Given the description of an element on the screen output the (x, y) to click on. 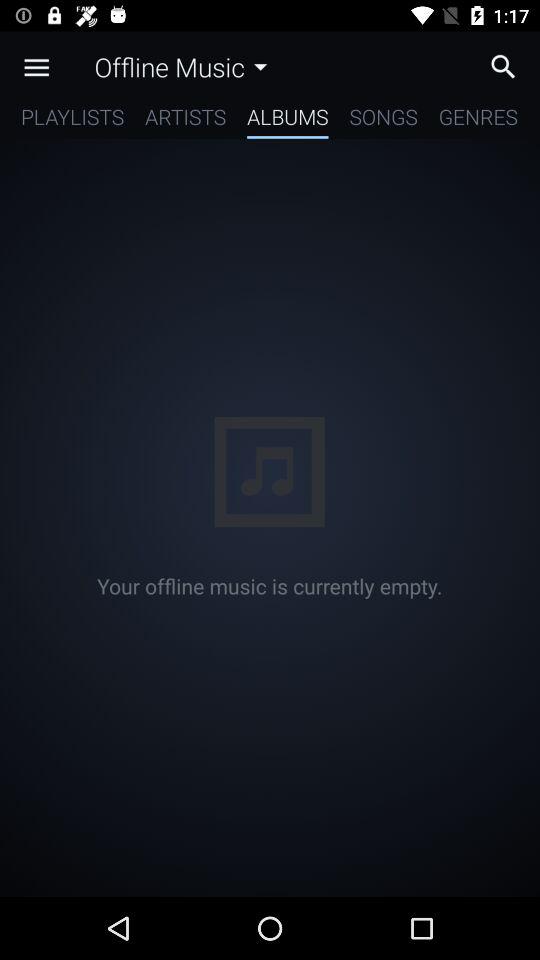
click app next to the albums app (383, 120)
